Given the description of an element on the screen output the (x, y) to click on. 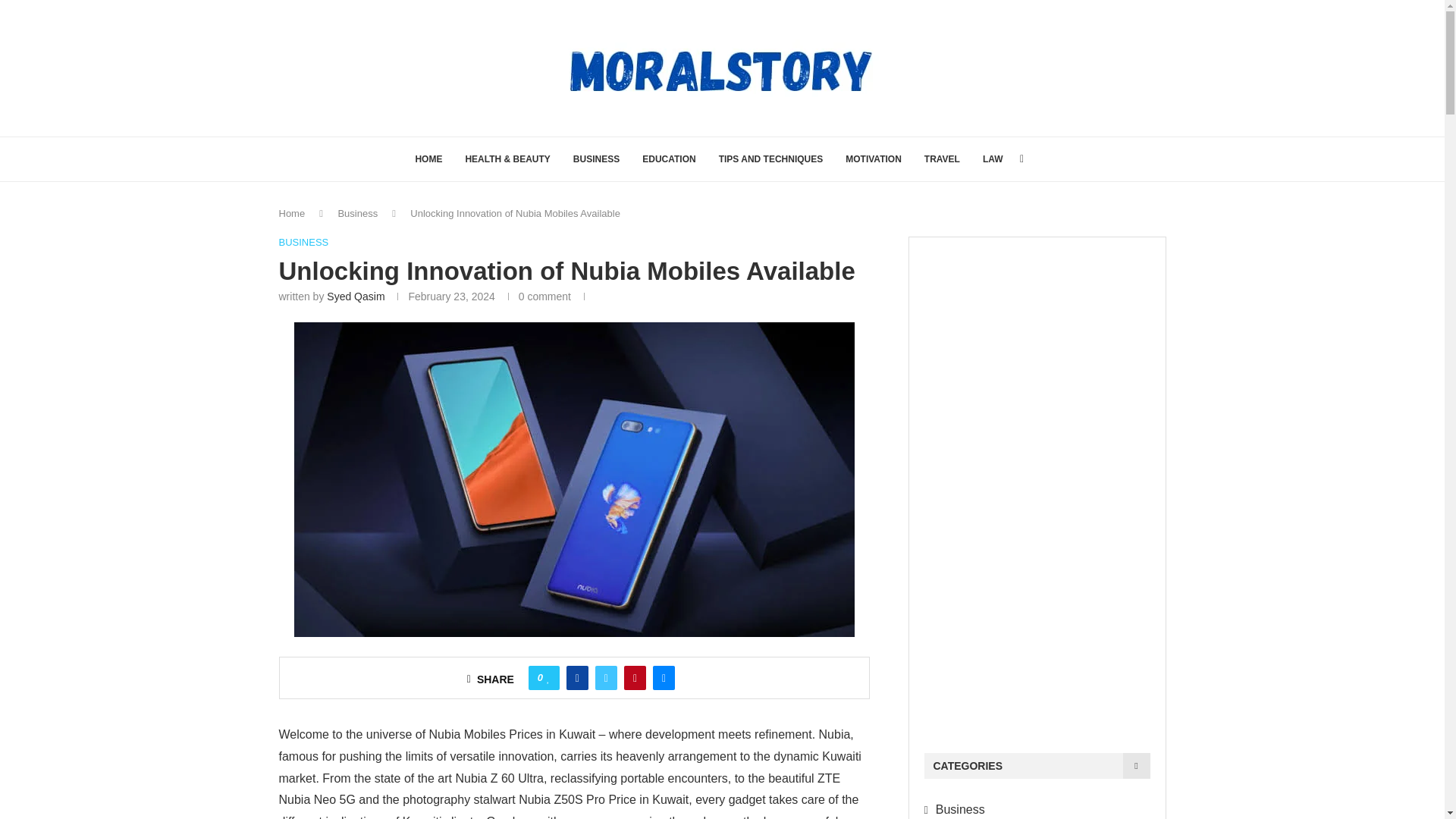
BUSINESS (596, 158)
Syed Qasim (355, 296)
BUSINESS (304, 242)
EDUCATION (668, 158)
TIPS AND TECHNIQUES (771, 158)
Home (292, 213)
MOTIVATION (873, 158)
Business (357, 213)
